Given the description of an element on the screen output the (x, y) to click on. 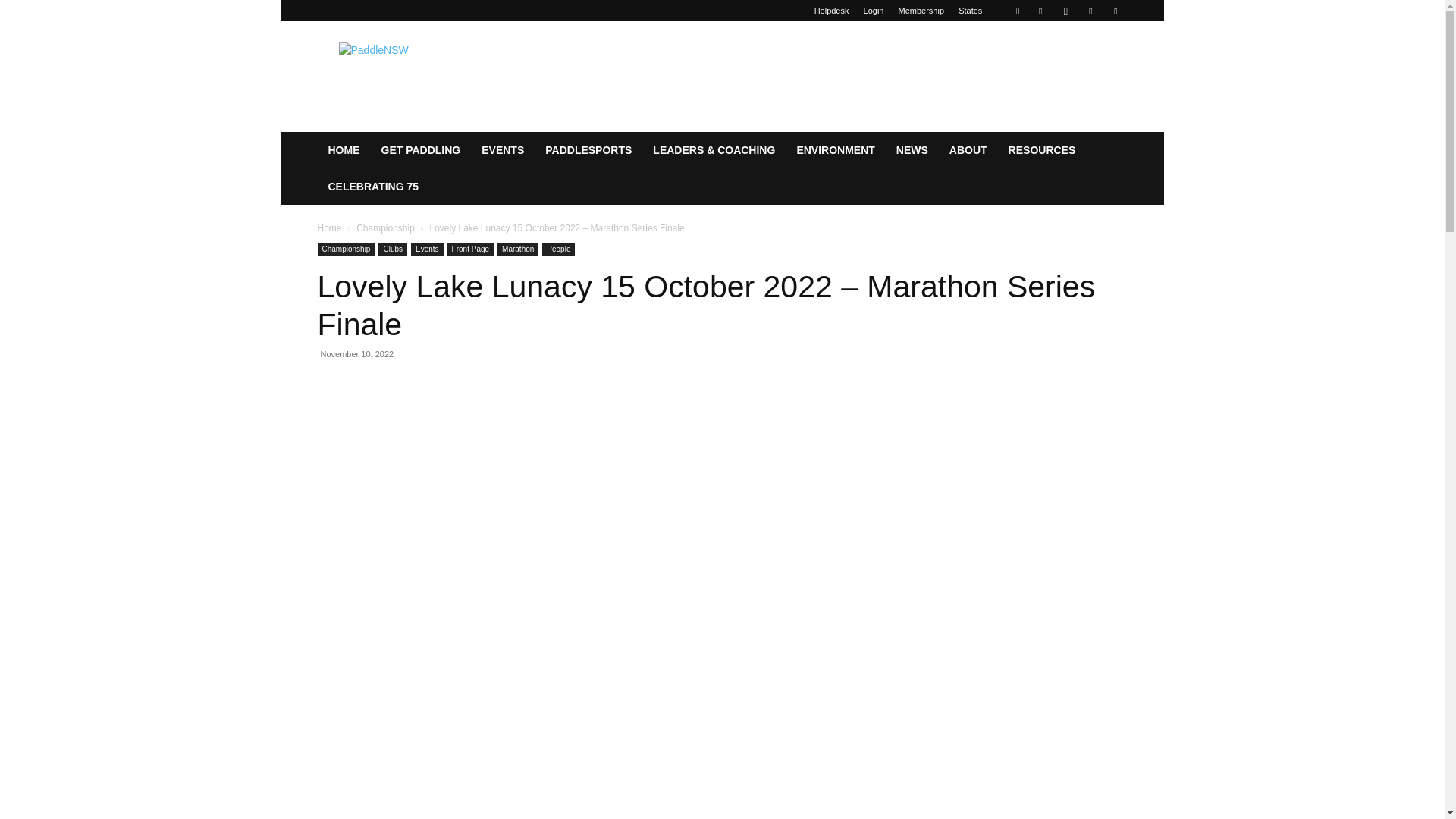
Twitter (1114, 10)
Instagram (1065, 10)
Linkedin (1090, 10)
Facebook (1040, 10)
